Given the description of an element on the screen output the (x, y) to click on. 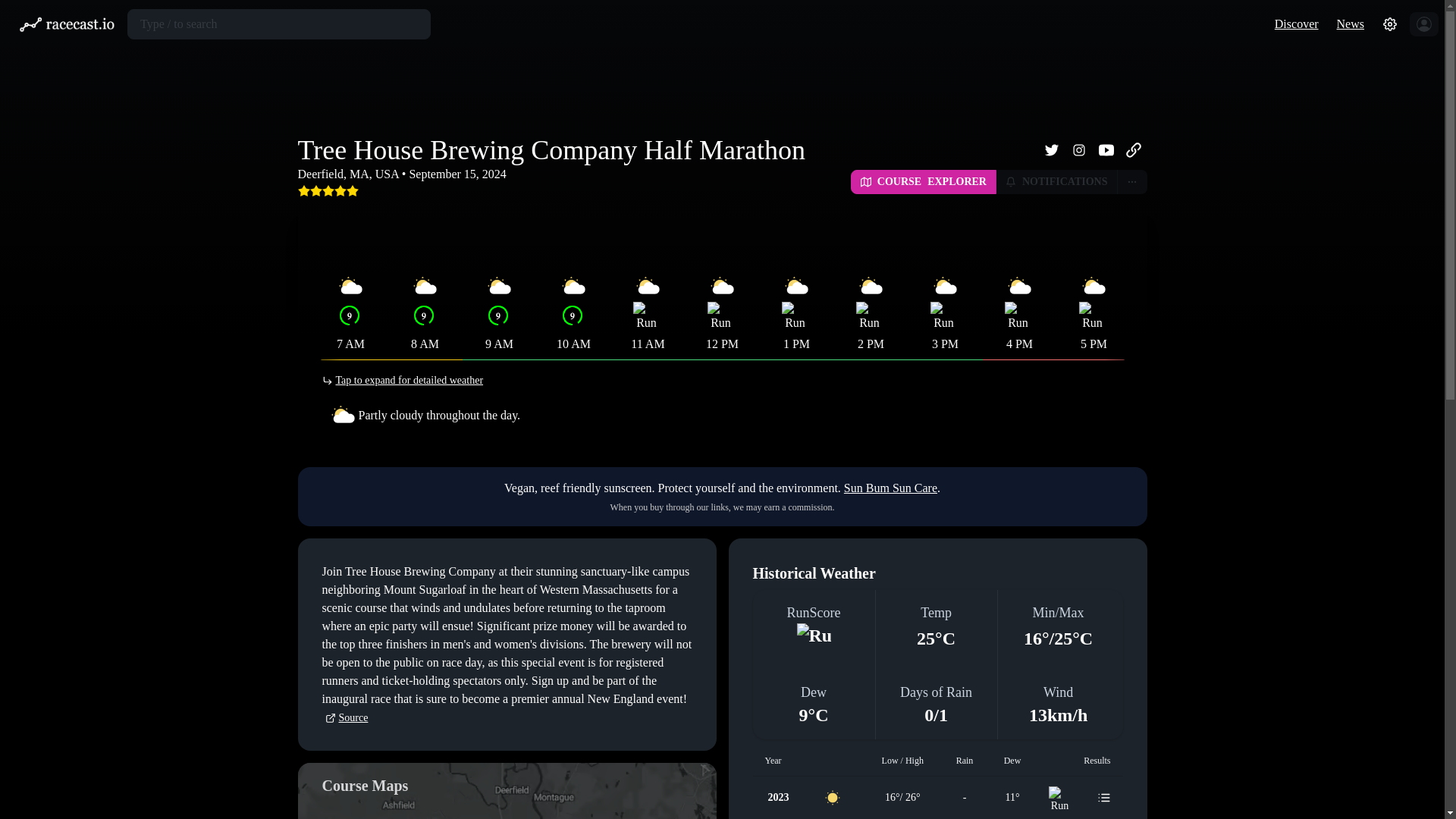
partly-cloudy-day (349, 286)
Official Race Website (1133, 149)
partly-cloudy-day (721, 286)
Run Score: 9 (571, 315)
Run Score: 9 (348, 315)
partly-cloudy-day (795, 286)
partly-cloudy-day (646, 286)
partly-cloudy-day (572, 286)
Rate the Tree House Brewing Company Half Marathon (327, 190)
Run Score: 9 (422, 315)
Run Score: 8 (719, 315)
Discover (1296, 23)
Twitter (1050, 149)
YouTube (1105, 149)
Run Score: 8 (645, 315)
